Given the description of an element on the screen output the (x, y) to click on. 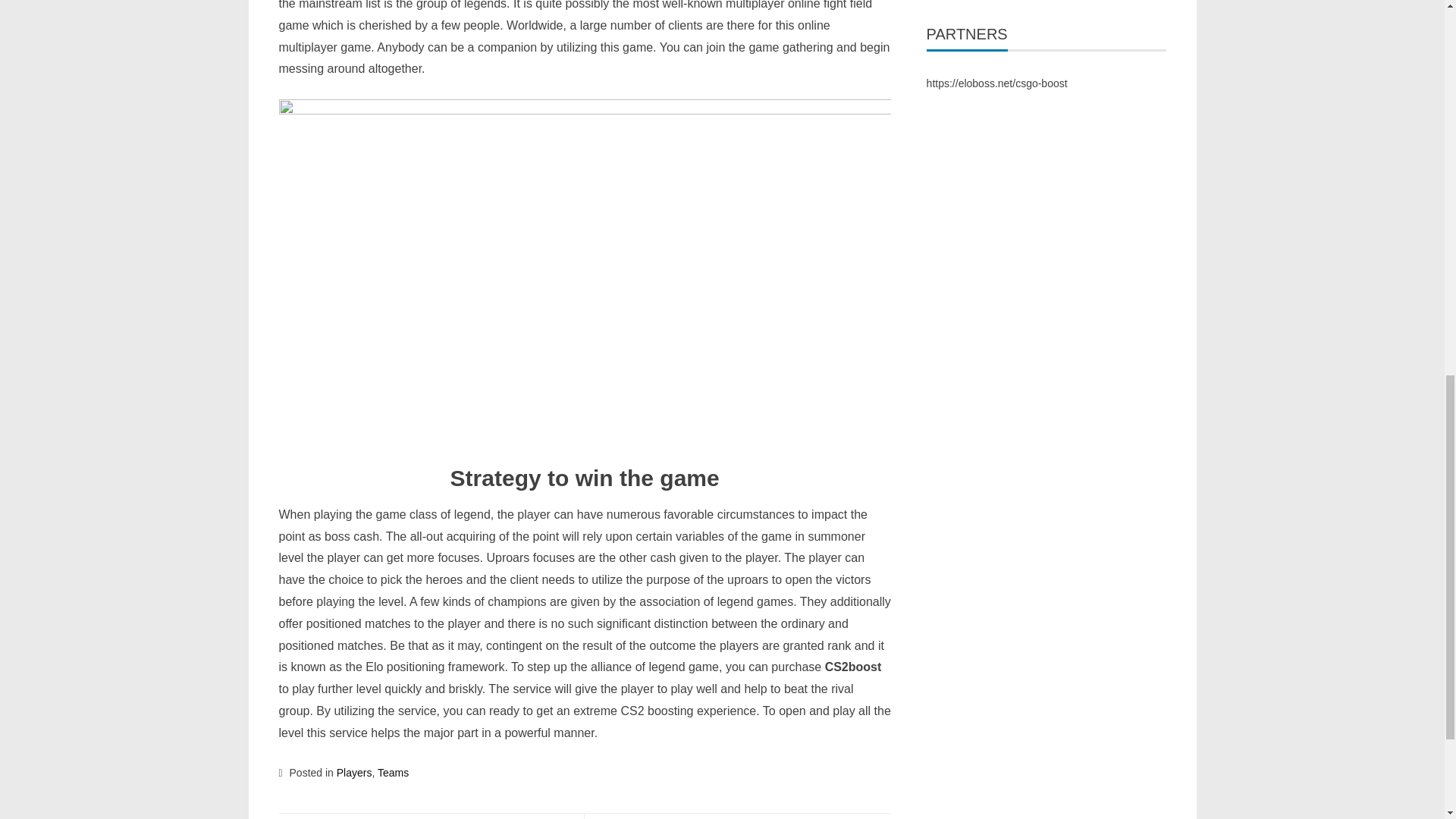
Players (354, 772)
Teams (393, 772)
